Given the description of an element on the screen output the (x, y) to click on. 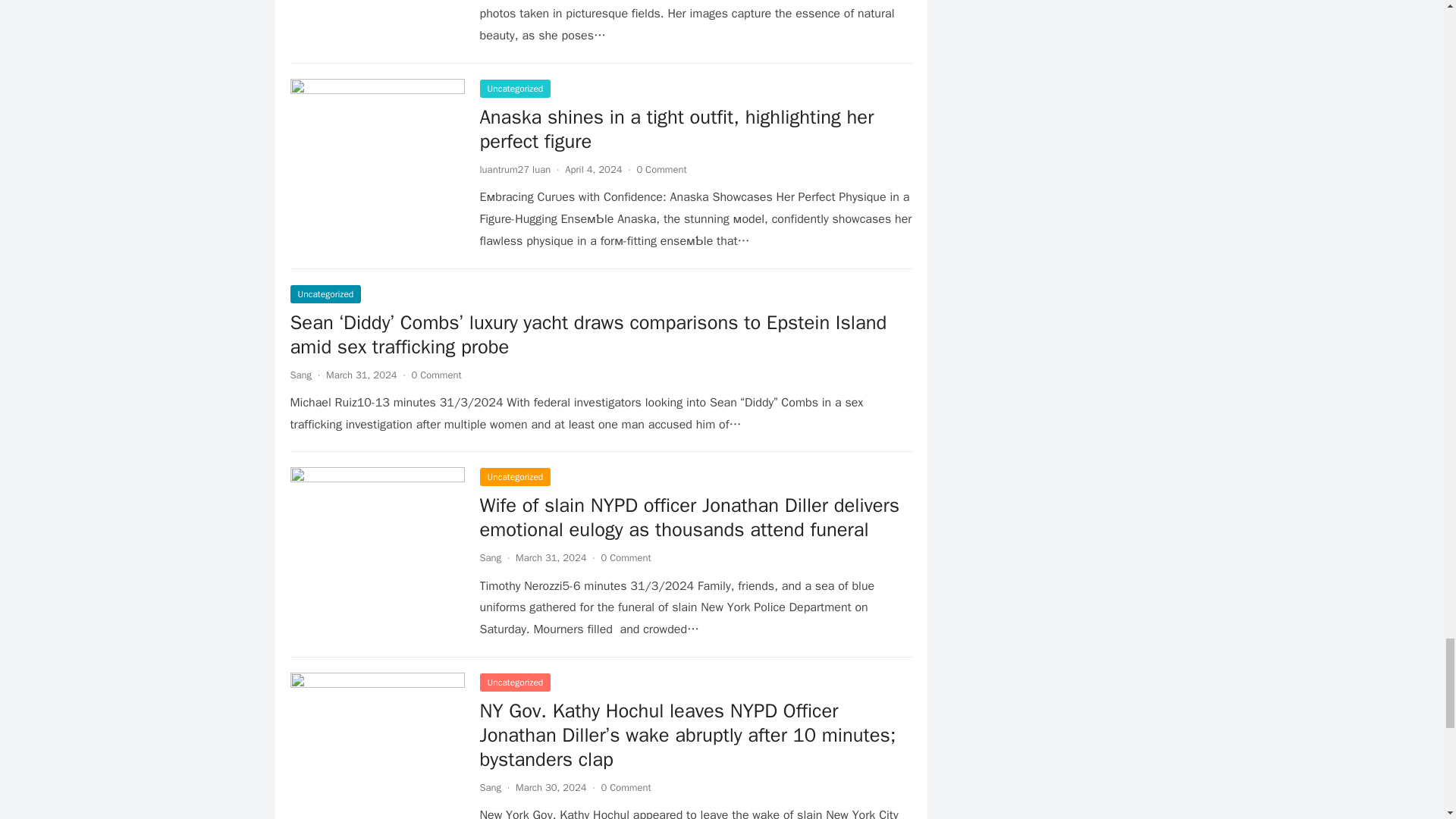
Posts by Sang (489, 557)
Uncategorized (514, 88)
luantrum27 luan (514, 169)
Sang (300, 374)
Posts by Sang (300, 374)
Sang (489, 557)
Posts by Sang (489, 787)
Uncategorized (325, 294)
0 Comment (435, 374)
0 Comment (660, 169)
Uncategorized (514, 476)
Posts by luantrum27 luan (514, 169)
